Given the description of an element on the screen output the (x, y) to click on. 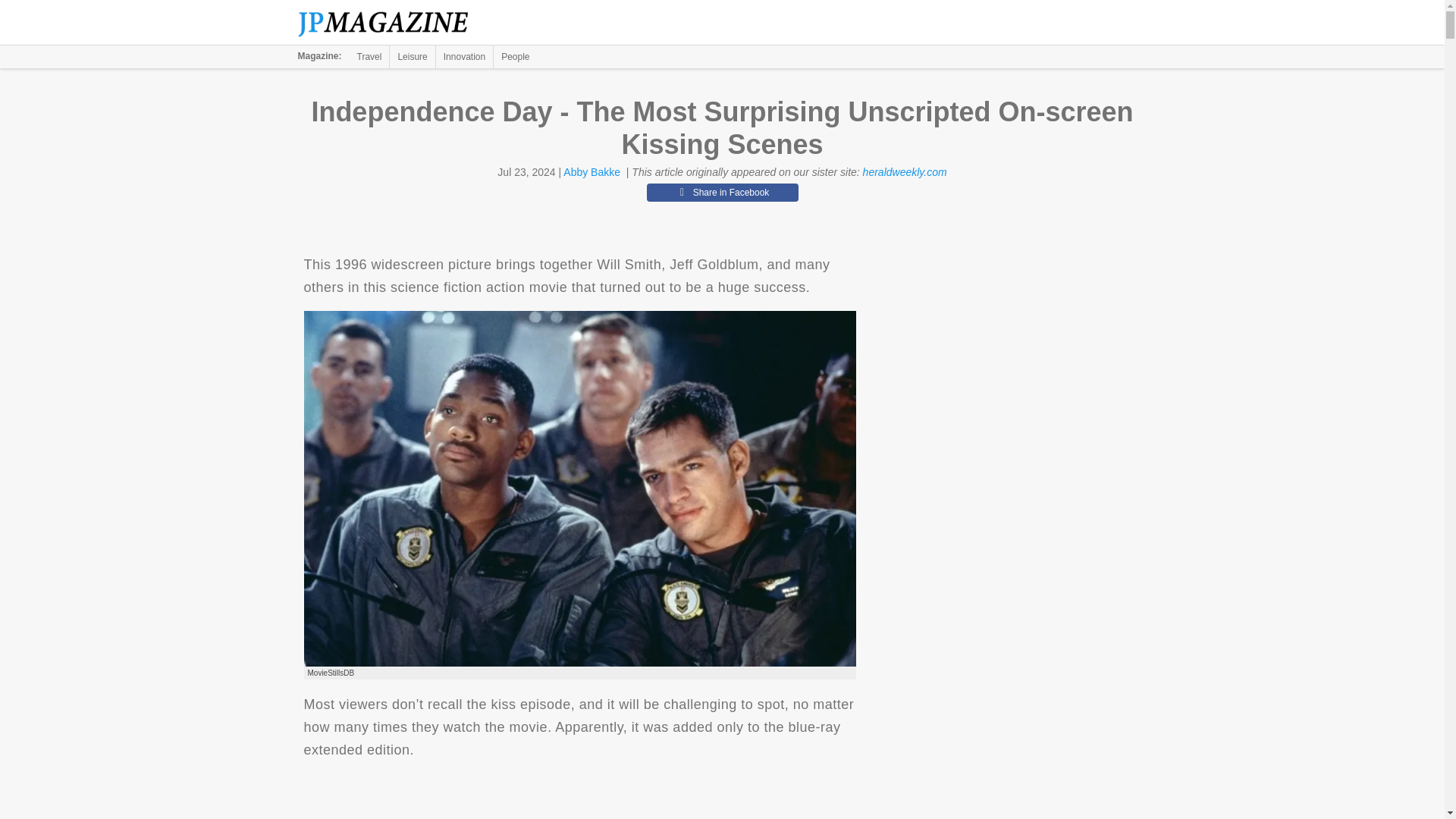
Leisure (411, 56)
Abby Bakke (591, 172)
The Jerusalem Post Magazine (391, 22)
heraldweekly.com (905, 172)
Travel (369, 56)
Innovation (464, 56)
People (515, 56)
Share in Facebook (721, 192)
